Given the description of an element on the screen output the (x, y) to click on. 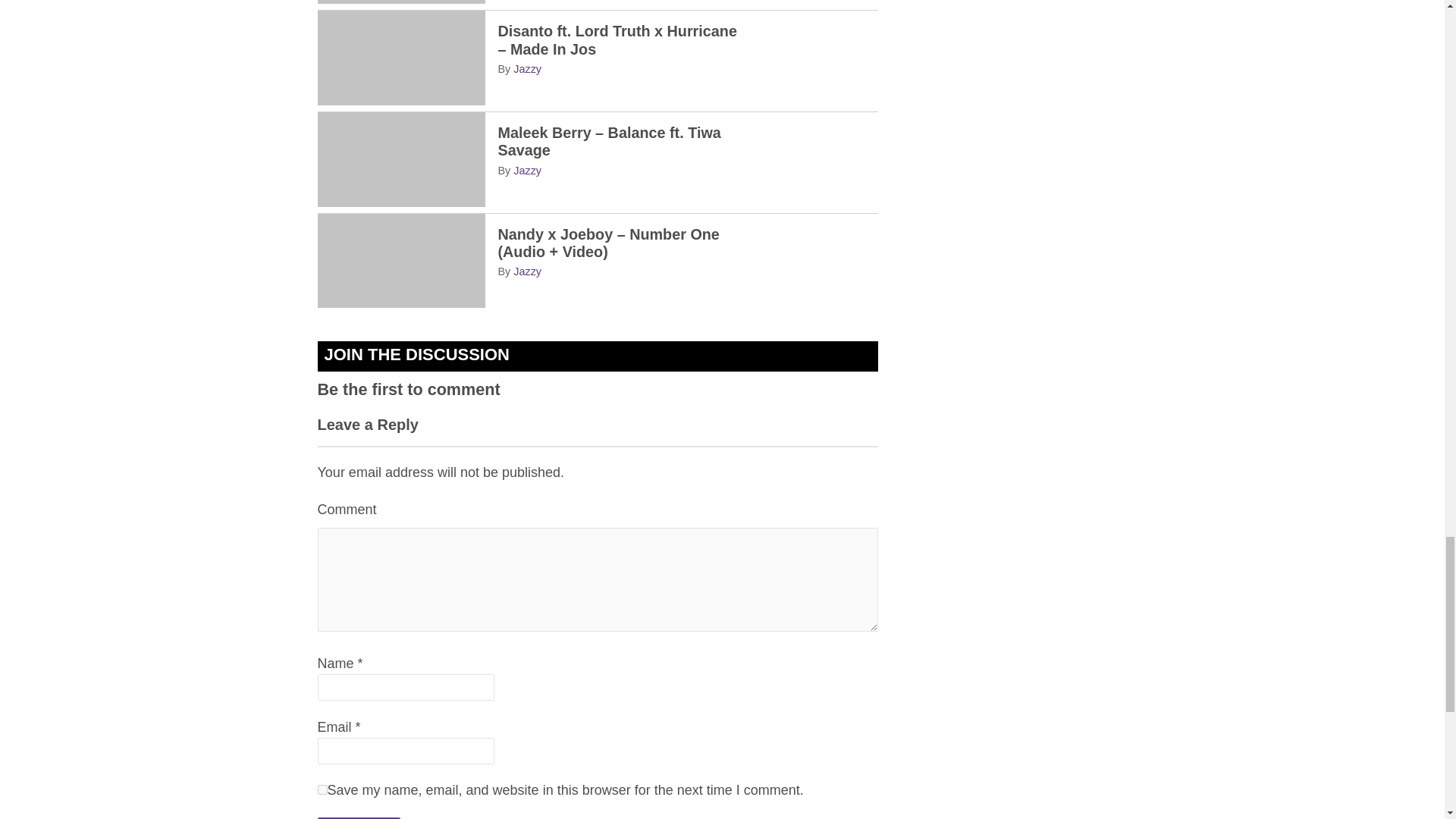
yes (321, 789)
Posts by Jazzy (527, 271)
Posts by Jazzy (527, 170)
Post Comment (357, 818)
Posts by Jazzy (527, 69)
